Given the description of an element on the screen output the (x, y) to click on. 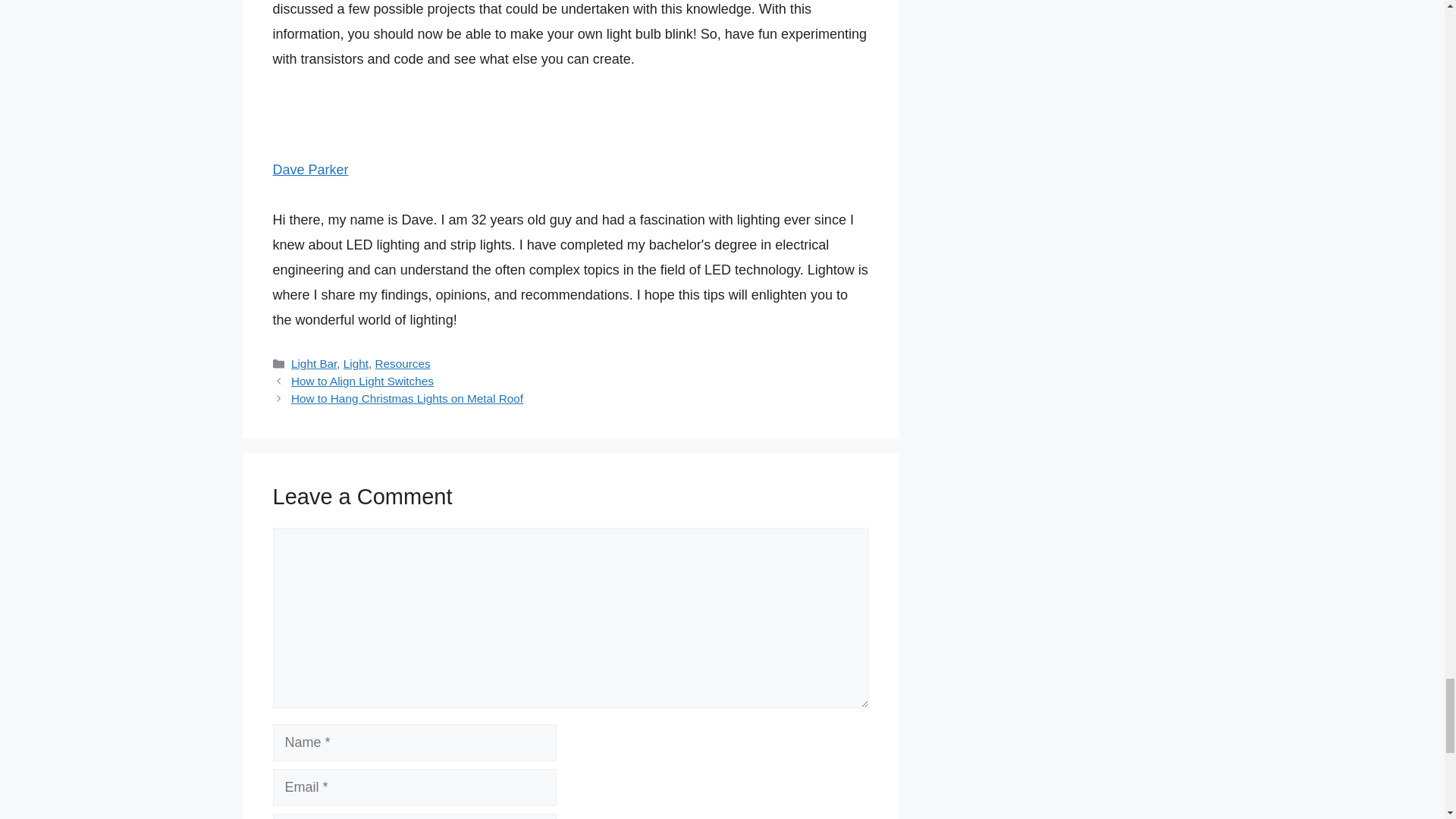
How to Align Light Switches (362, 380)
How to Hang Christmas Lights on Metal Roof (406, 398)
Light Bar (313, 363)
Dave Parker (311, 169)
Light (355, 363)
Resources (402, 363)
